Given the description of an element on the screen output the (x, y) to click on. 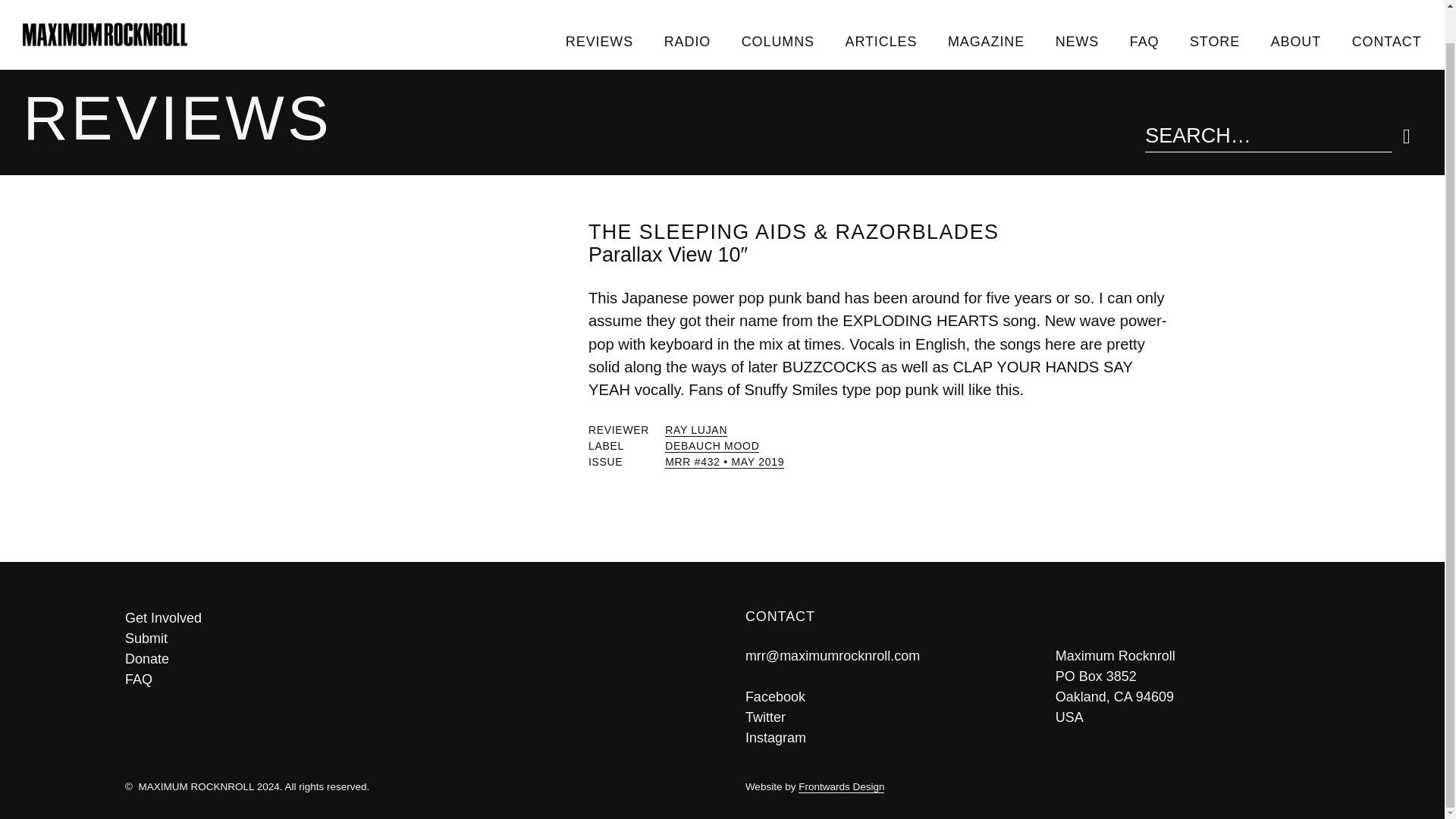
STORE (1214, 12)
MAGAZINE (987, 12)
Submit (411, 638)
Frontwards Design (840, 787)
RADIO (686, 12)
Instagram (775, 737)
Donate (411, 659)
Facebook (775, 696)
ABOUT (1295, 12)
DEBAUCH MOOD (711, 445)
